Given the description of an element on the screen output the (x, y) to click on. 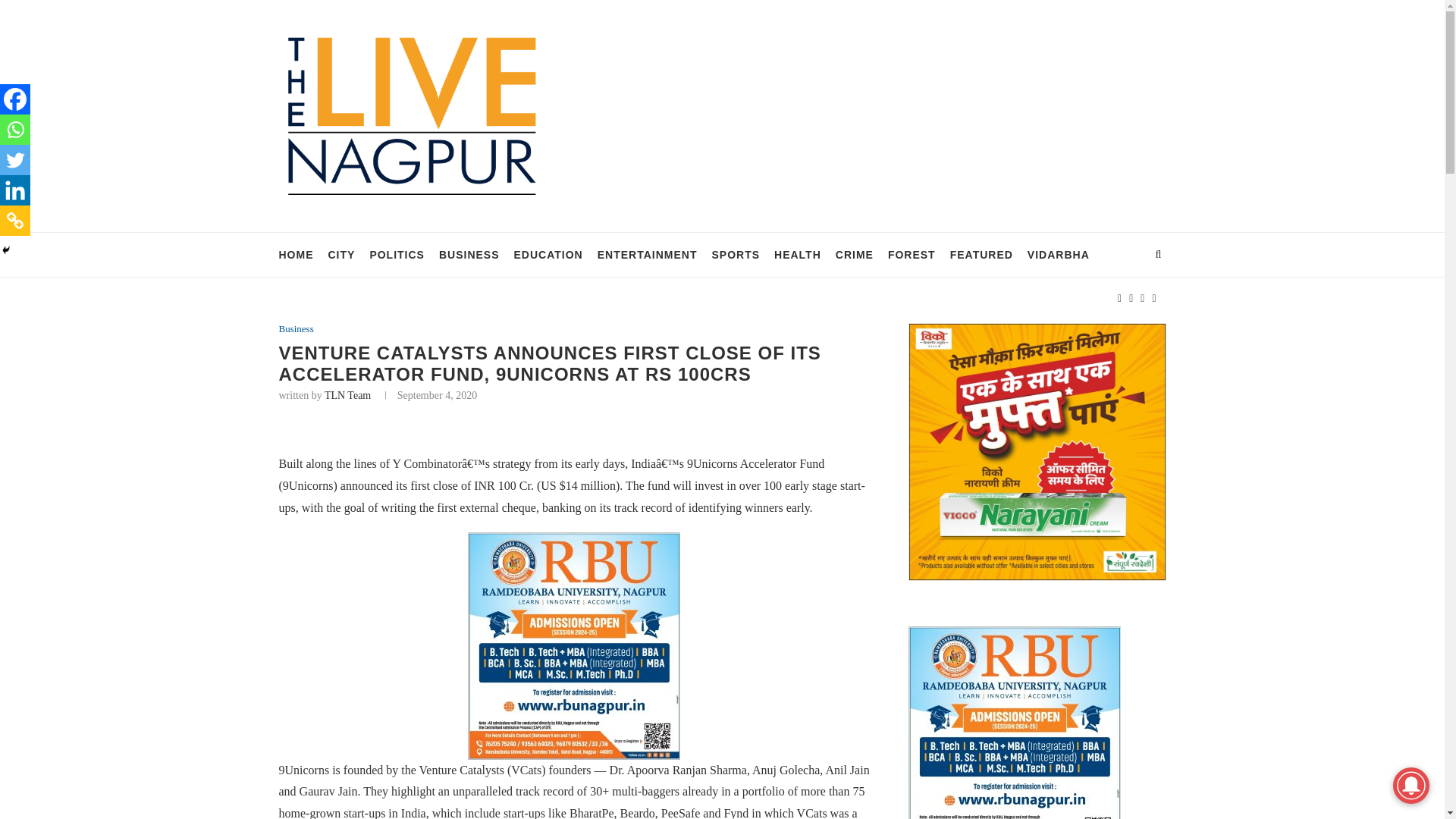
SPORTS (735, 254)
EDUCATION (548, 254)
Linkedin (15, 190)
FOREST (912, 254)
Copy Link (15, 220)
POLITICS (397, 254)
Twitter (15, 159)
HEALTH (797, 254)
VIDARBHA (1058, 254)
Business (296, 328)
ENTERTAINMENT (646, 254)
Hide (5, 250)
FEATURED (981, 254)
Facebook (15, 99)
Whatsapp (15, 129)
